Given the description of an element on the screen output the (x, y) to click on. 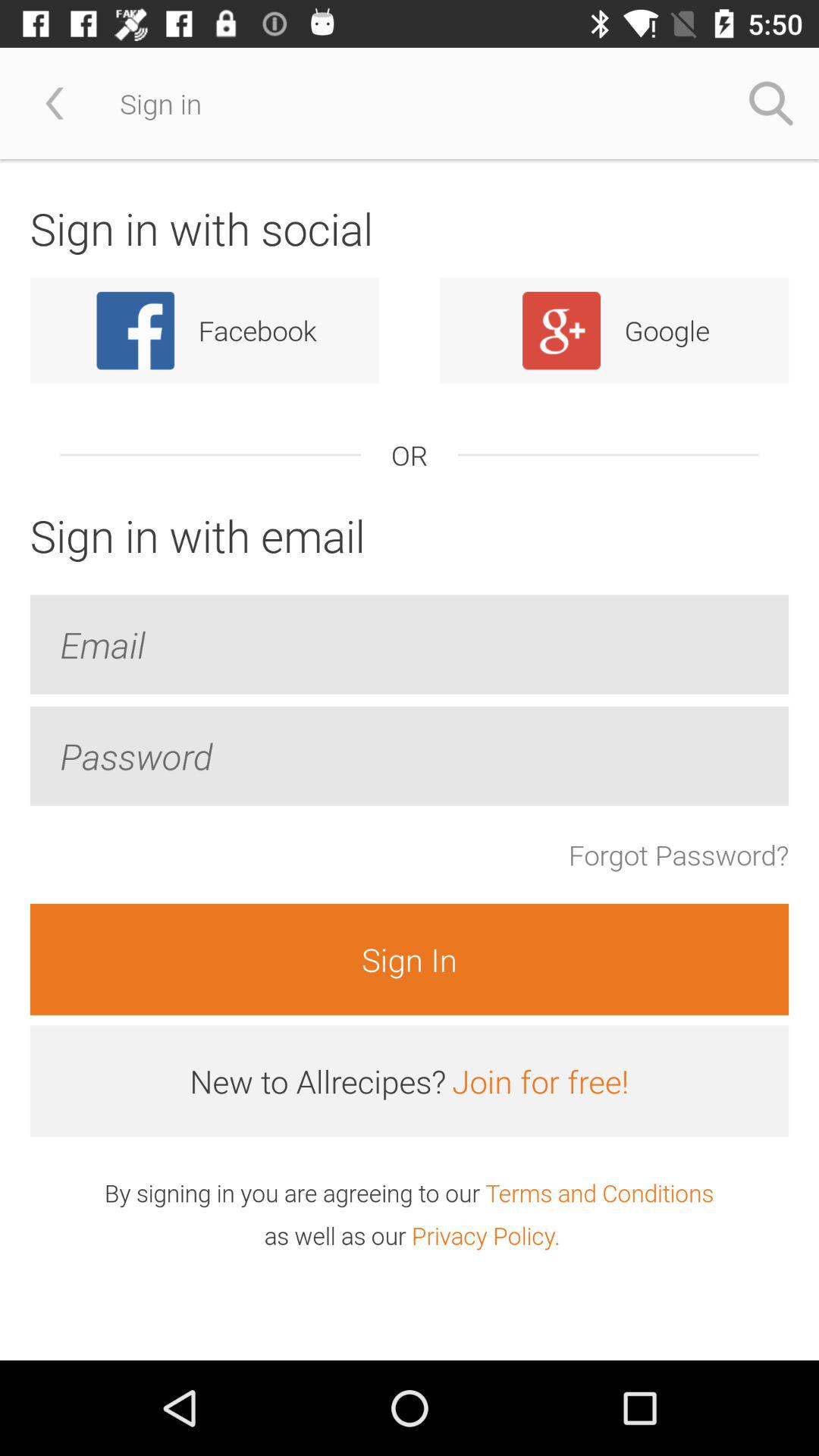
turn on item above the privacy policy. icon (599, 1192)
